Given the description of an element on the screen output the (x, y) to click on. 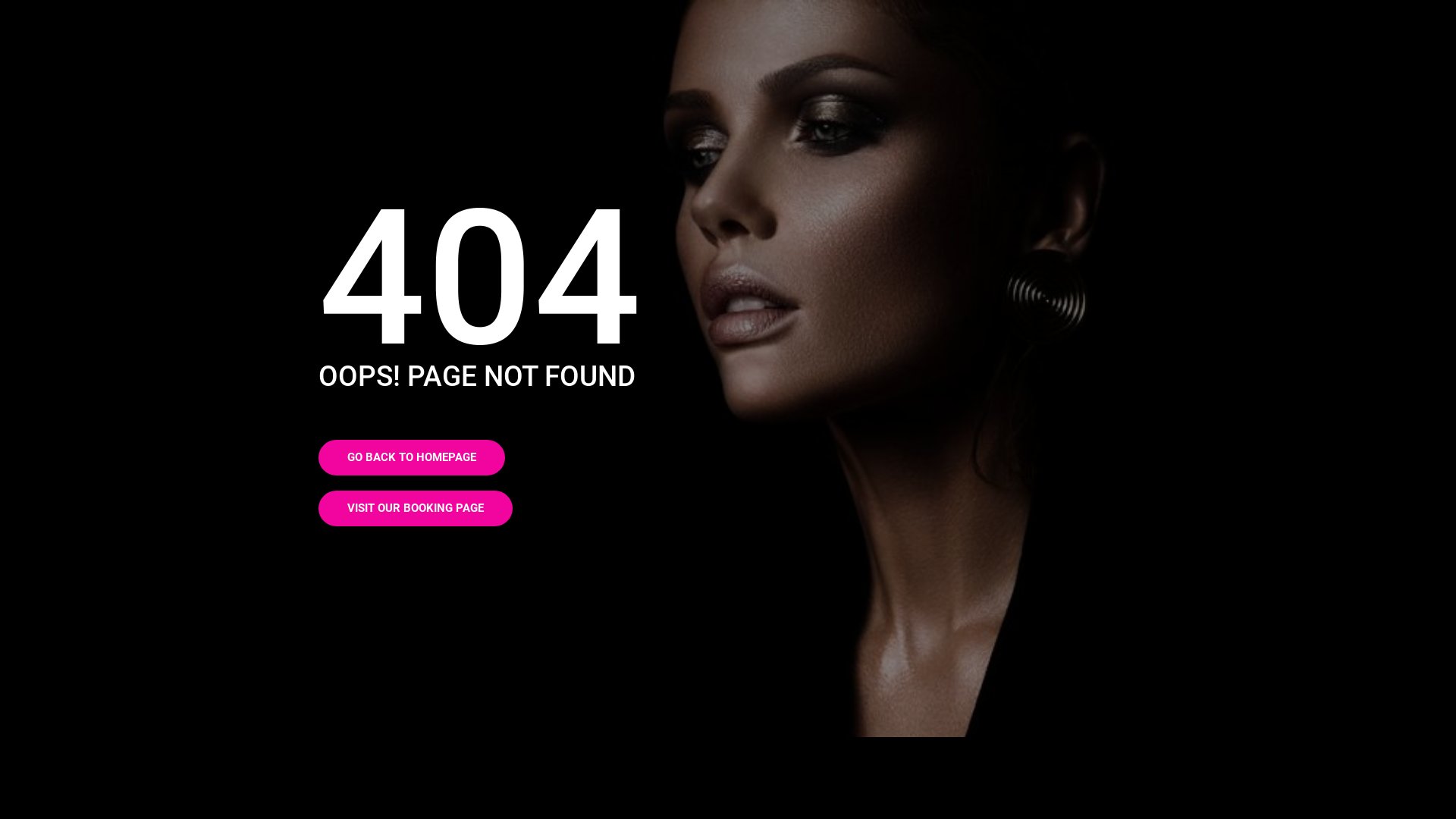
VISIT OUR BOOKING PAGE Element type: text (415, 508)
GO BACK TO HOMEPAGE Element type: text (411, 457)
